Given the description of an element on the screen output the (x, y) to click on. 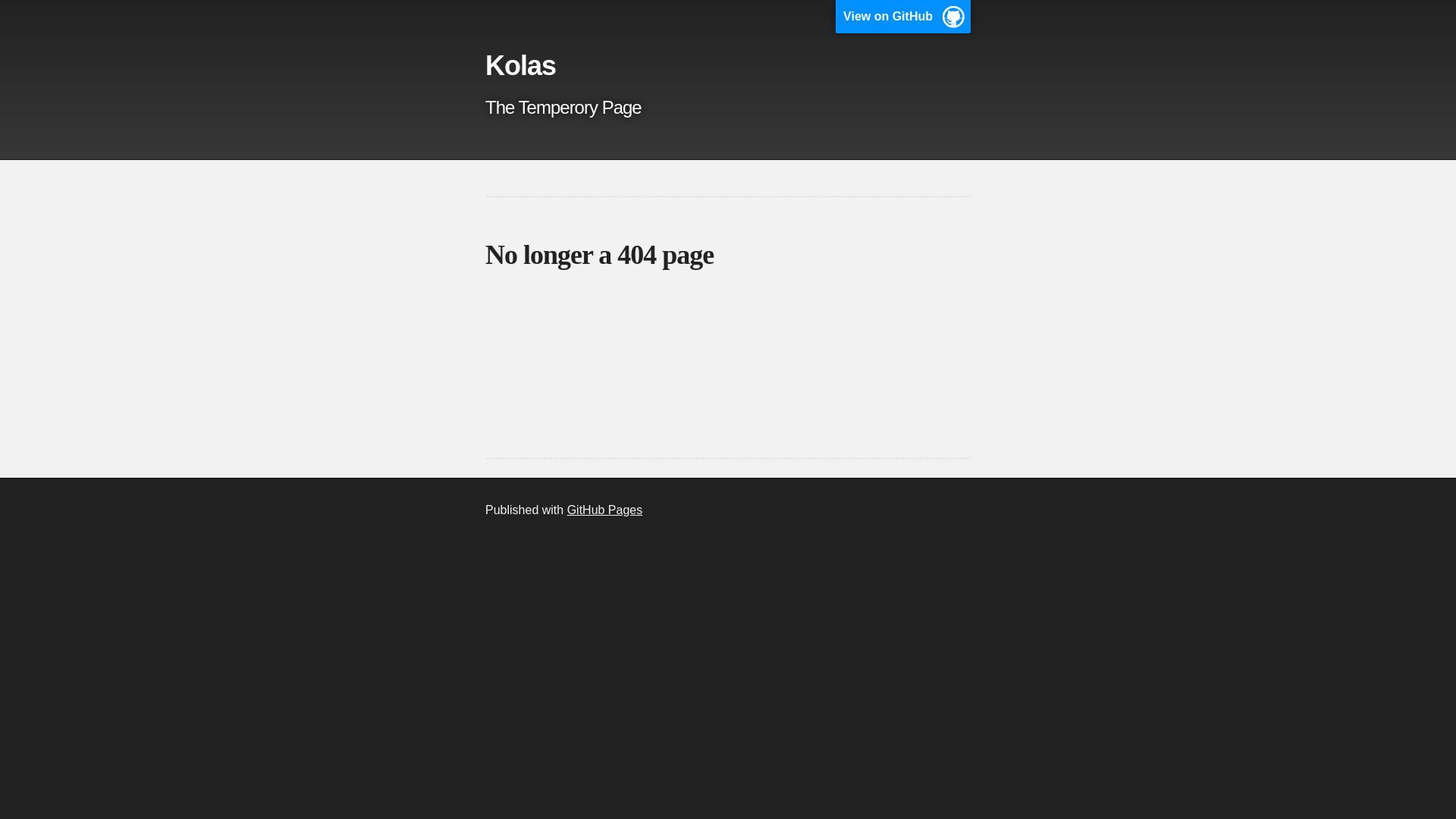
GitHub Pages Element type: text (605, 509)
View on GitHub Element type: text (902, 16)
